Given the description of an element on the screen output the (x, y) to click on. 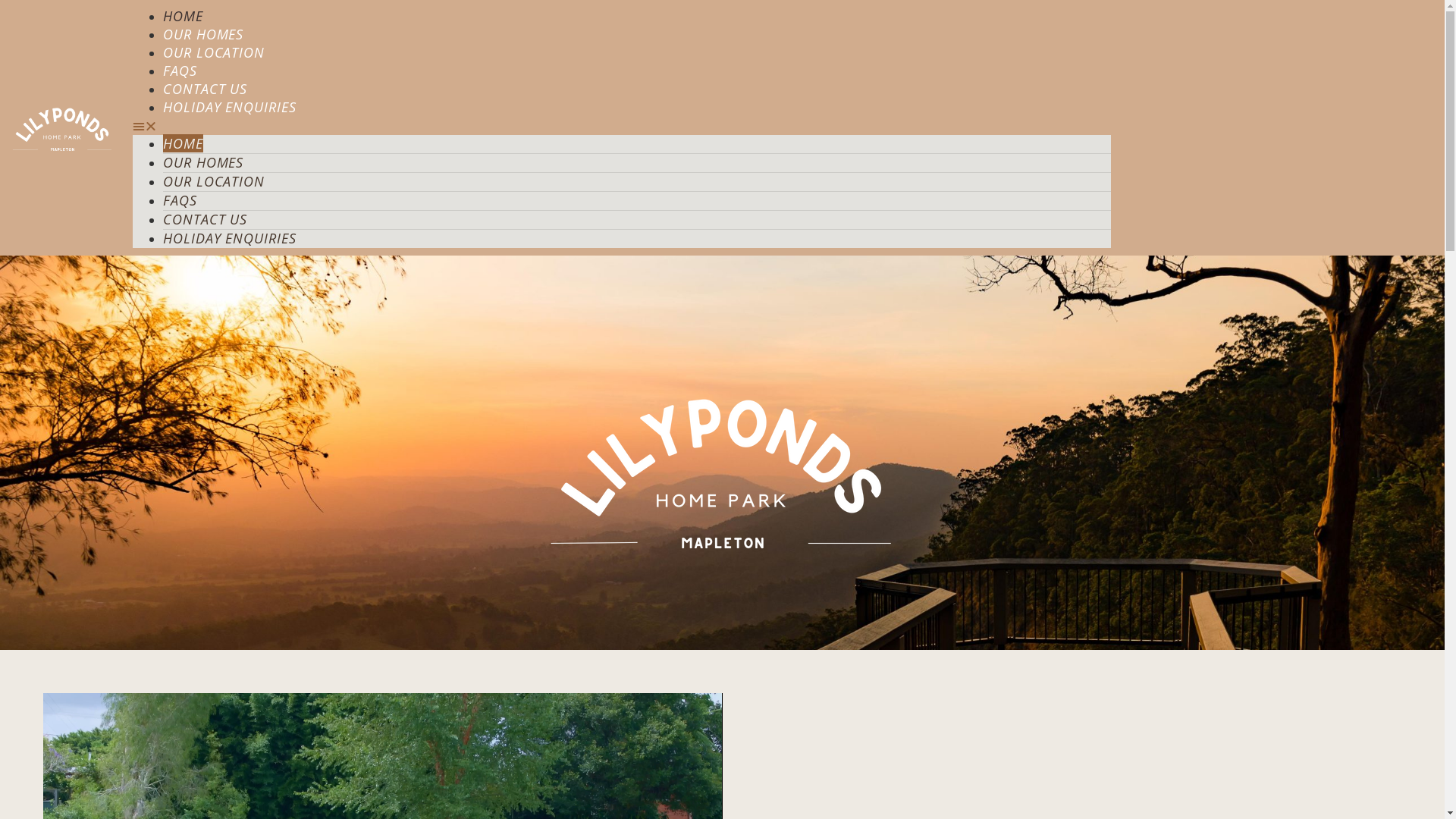
HOLIDAY ENQUIRIES Element type: text (229, 106)
OUR HOMES Element type: text (203, 34)
FAQS Element type: text (180, 70)
OUR LOCATION Element type: text (213, 52)
CONTACT US Element type: text (205, 219)
OUR HOMES Element type: text (203, 162)
OUR LOCATION Element type: text (213, 181)
CONTACT US Element type: text (205, 88)
HOME Element type: text (183, 143)
HOME Element type: text (183, 15)
HOLIDAY ENQUIRIES Element type: text (229, 238)
FAQS Element type: text (180, 200)
